Given the description of an element on the screen output the (x, y) to click on. 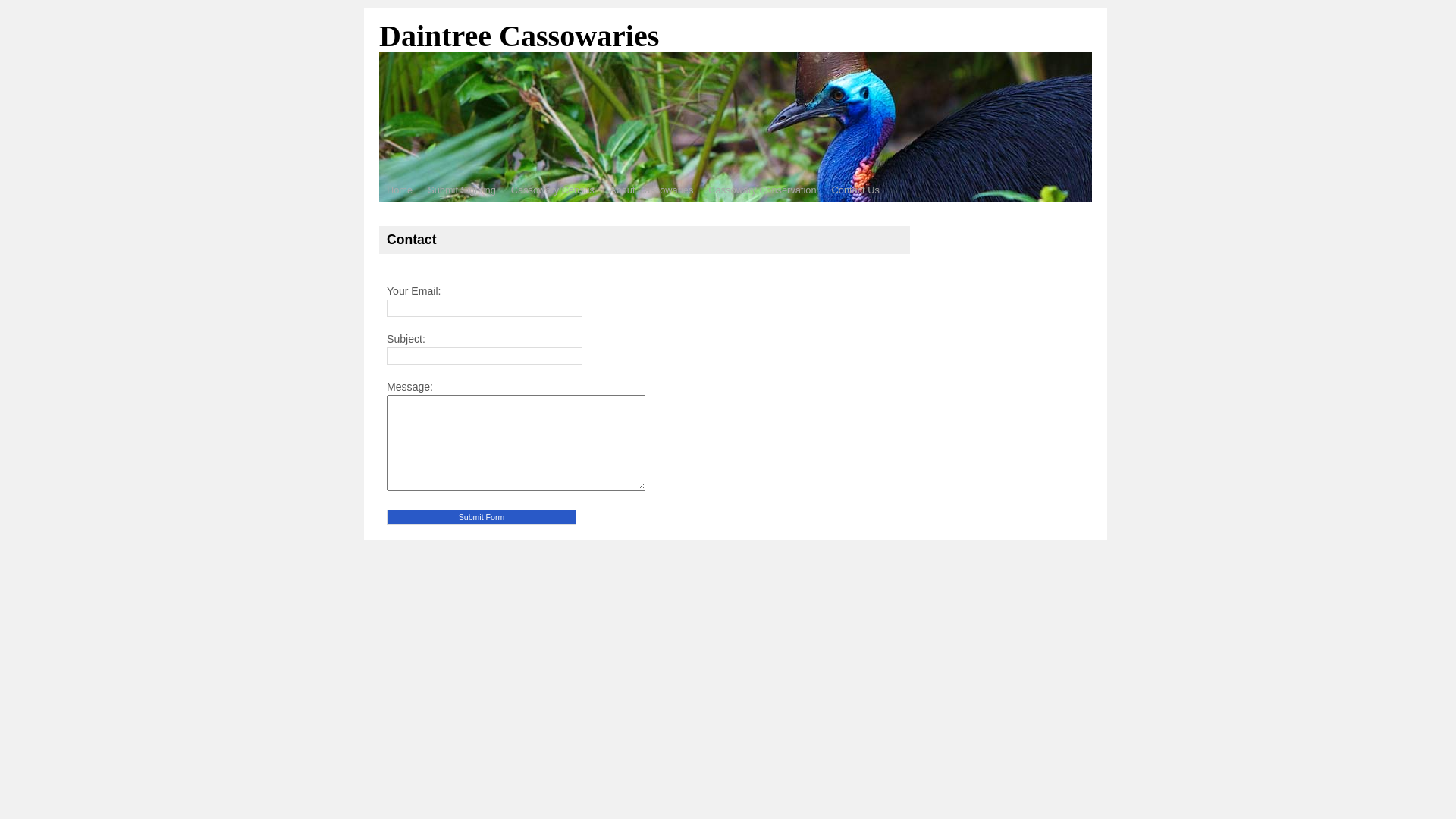
Submit Sighting Element type: text (461, 190)
Cassowary Conservation Element type: text (761, 190)
Home Element type: text (399, 190)
Contact Us Element type: text (855, 190)
Submit Form Element type: text (481, 516)
